Given the description of an element on the screen output the (x, y) to click on. 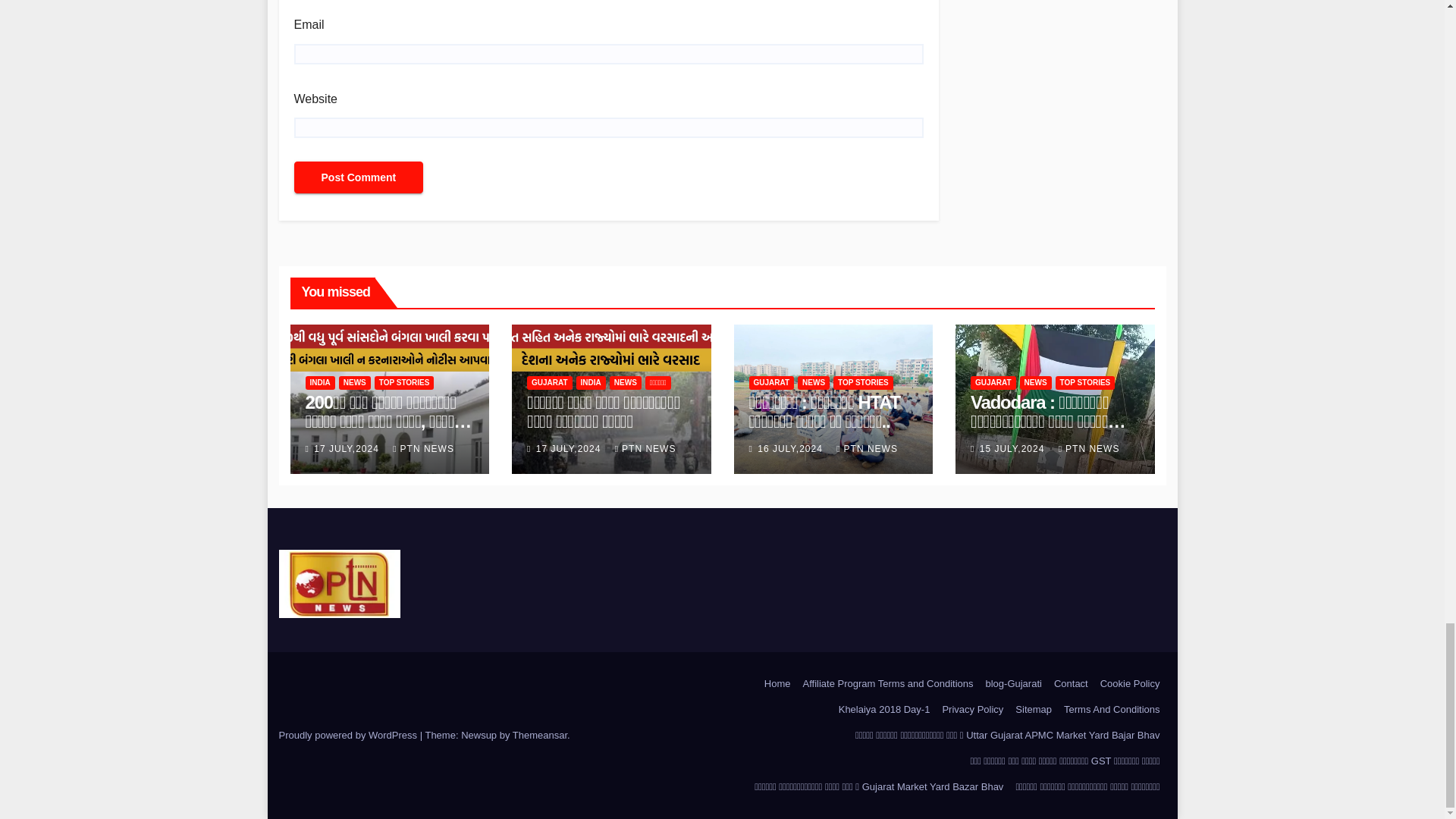
Post Comment (358, 177)
